Given the description of an element on the screen output the (x, y) to click on. 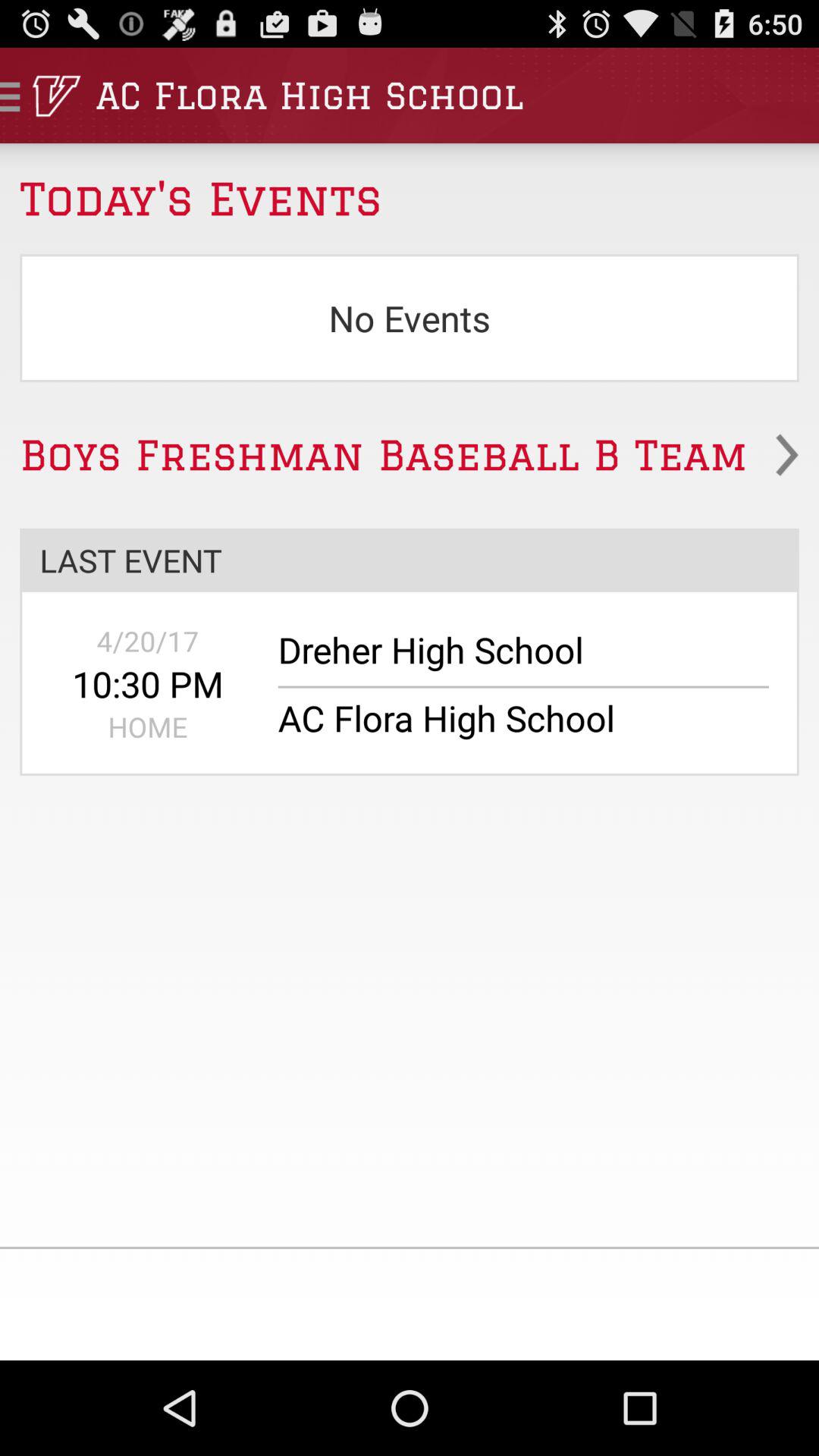
choose app to the right of the 10:30 pm app (513, 657)
